Given the description of an element on the screen output the (x, y) to click on. 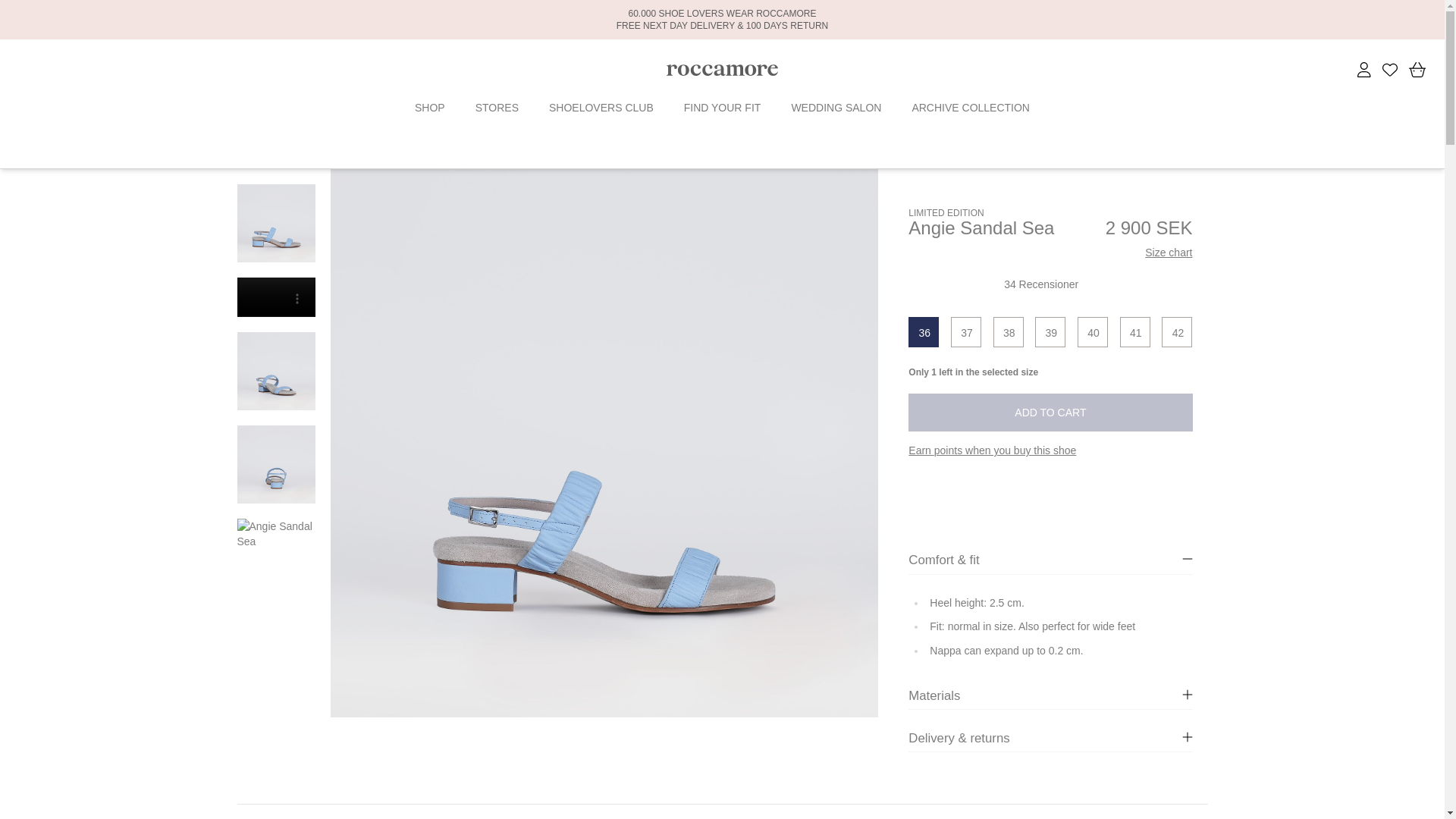
SHOP (429, 107)
WEDDING SALON (835, 107)
47794862260568 (1134, 331)
FIND YOUR FIT (722, 107)
47794862129496 (965, 331)
47794862096728 (923, 331)
47794862195032 (1050, 331)
47794862227800 (1092, 331)
ARCHIVE COLLECTION (970, 107)
STORES (497, 107)
47794862293336 (1176, 331)
47794862162264 (1007, 331)
SHOELOVERS CLUB (600, 107)
Add to cart (1050, 412)
